Given the description of an element on the screen output the (x, y) to click on. 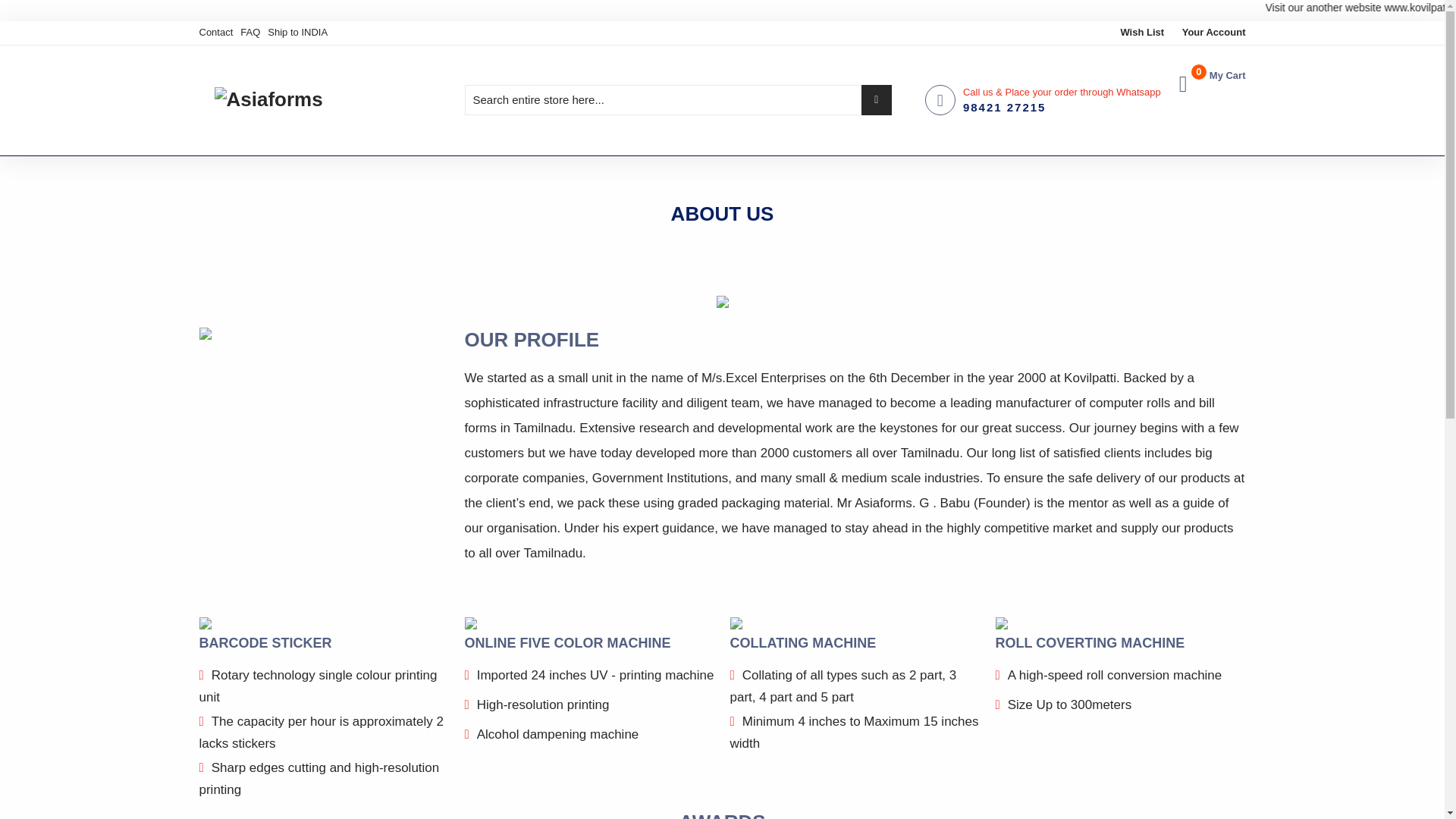
Your Account (1214, 31)
Contact (215, 31)
98421 27215 (1004, 106)
Ship to INDIA (297, 31)
Wish List (1141, 31)
FAQ (1212, 75)
